Given the description of an element on the screen output the (x, y) to click on. 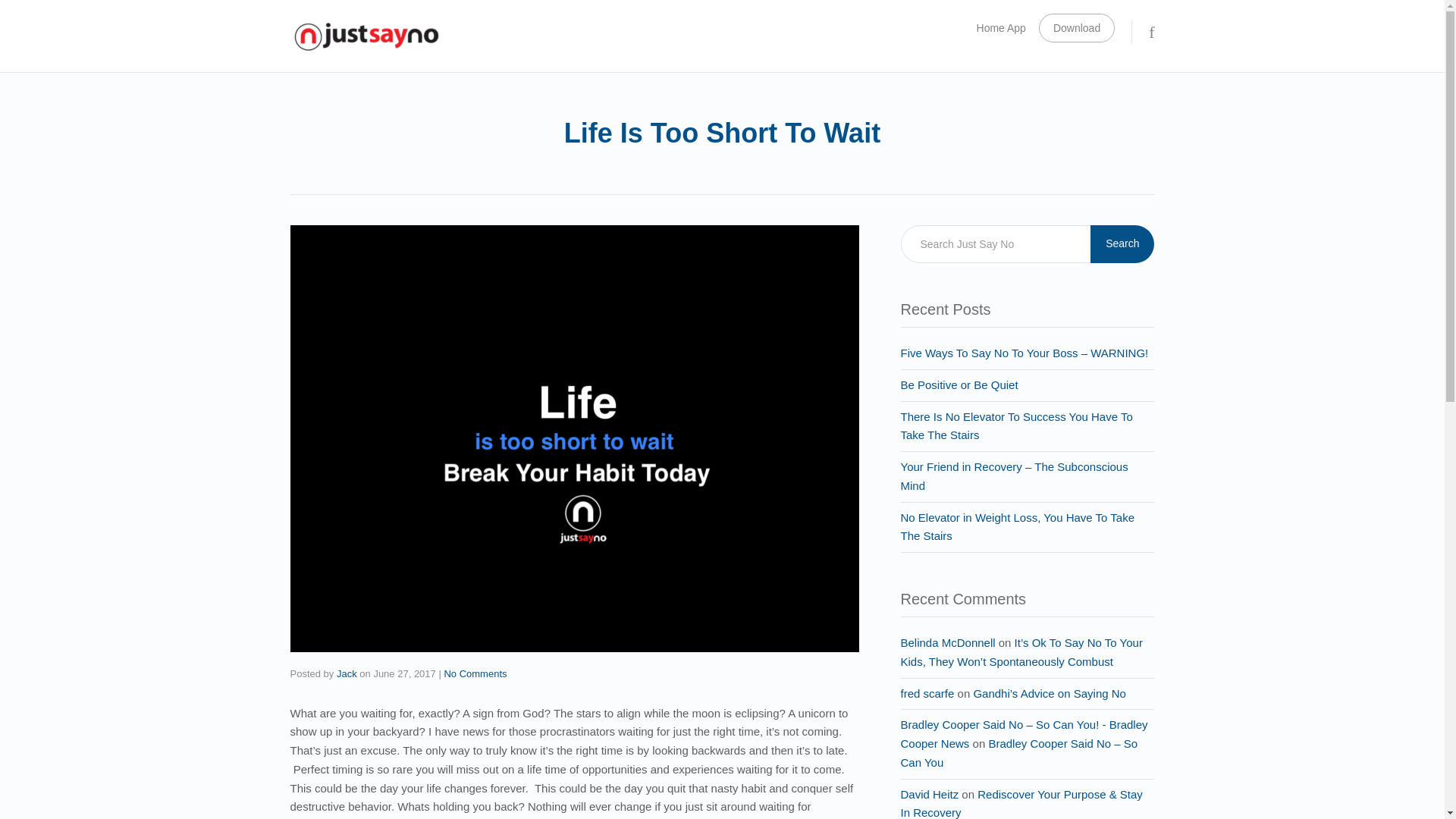
Search (1122, 243)
Download (1076, 28)
Posts by Jack (346, 673)
Jack (346, 673)
No Comments (475, 673)
Belinda McDonnell (948, 642)
Be Positive or Be Quiet (959, 384)
fred scarfe (928, 693)
There Is No Elevator To Success You Have To Take The Stairs (1016, 425)
David Heitz (930, 793)
No Elevator in Weight Loss, You Have To Take The Stairs (1018, 526)
Home App (1001, 27)
